Given the description of an element on the screen output the (x, y) to click on. 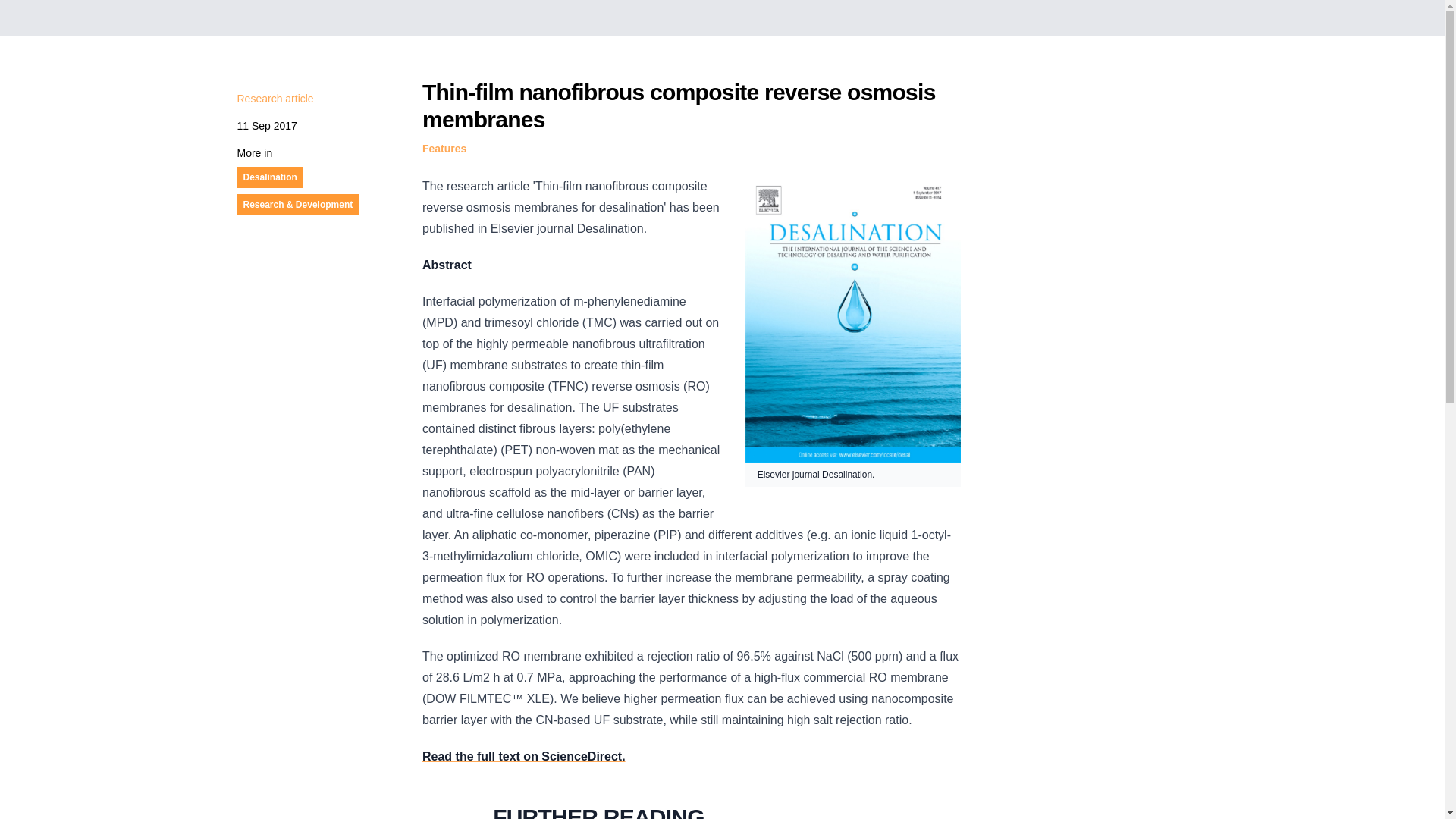
Research article (274, 98)
Features (443, 148)
Desalination (270, 176)
